Given the description of an element on the screen output the (x, y) to click on. 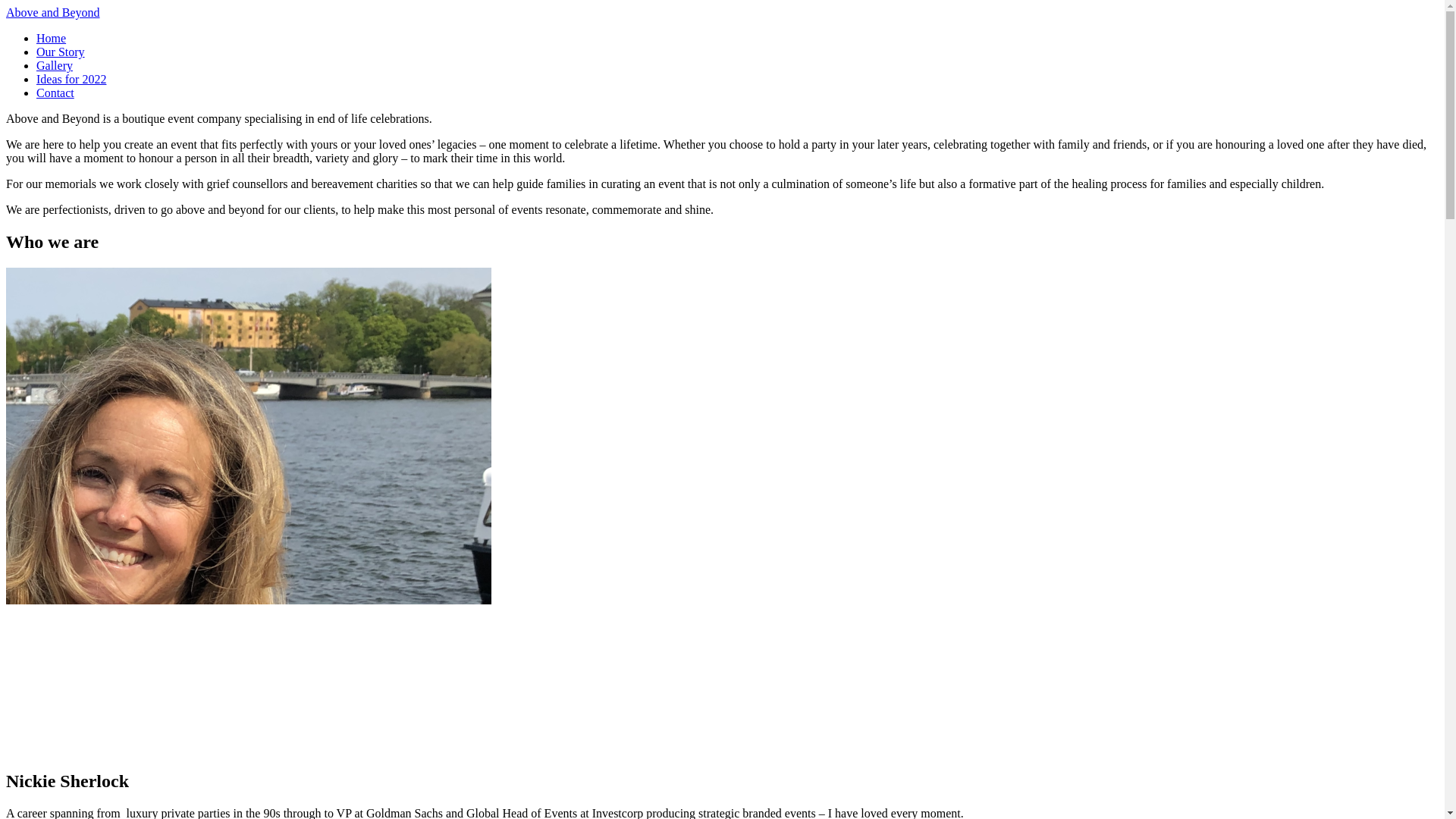
Gallery (54, 65)
Home (50, 38)
Our Story (60, 51)
Above and Beyond (52, 11)
Ideas for 2022 (71, 78)
Contact (55, 92)
